Given the description of an element on the screen output the (x, y) to click on. 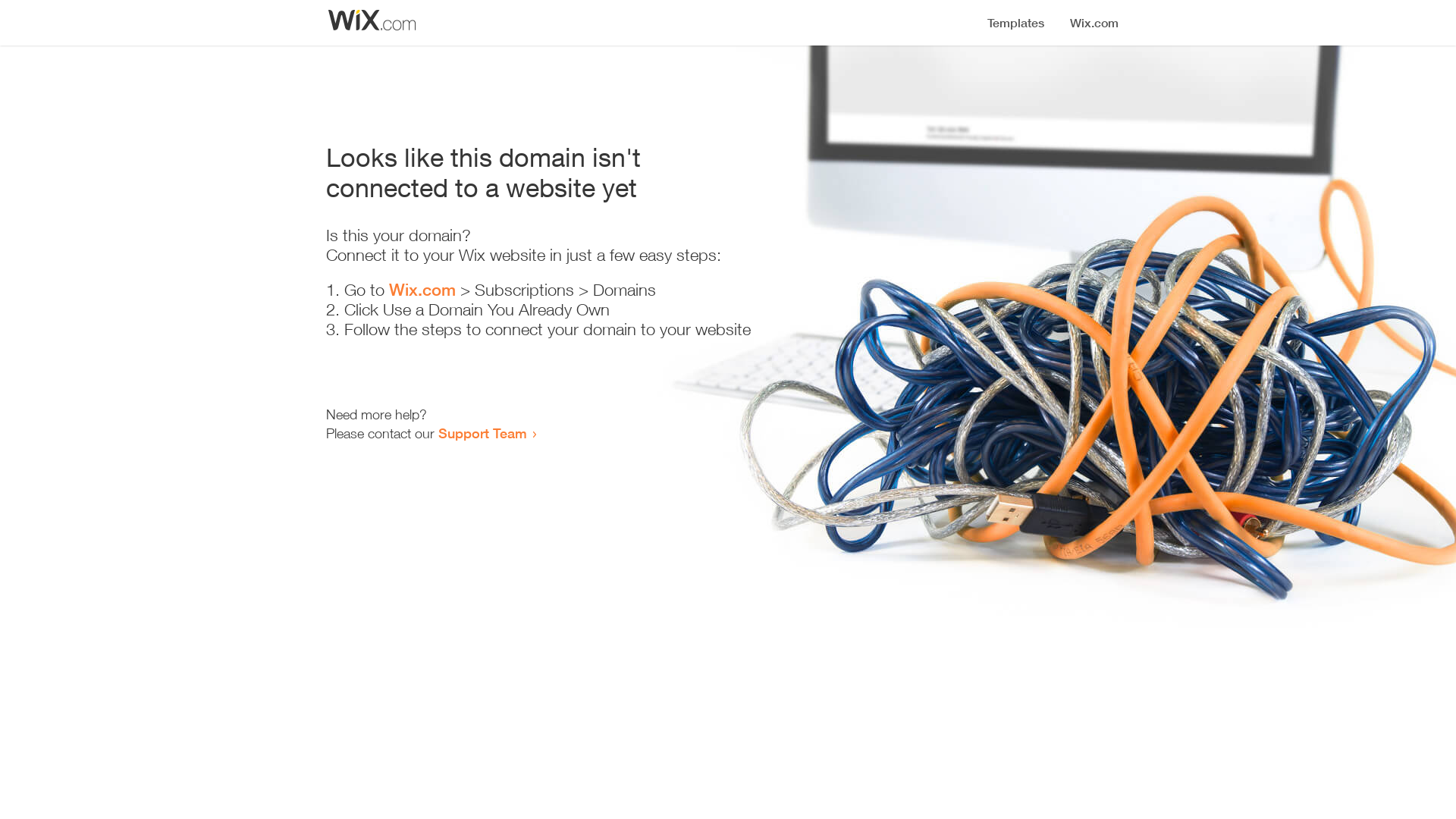
Wix.com Element type: text (422, 289)
Support Team Element type: text (482, 432)
